Given the description of an element on the screen output the (x, y) to click on. 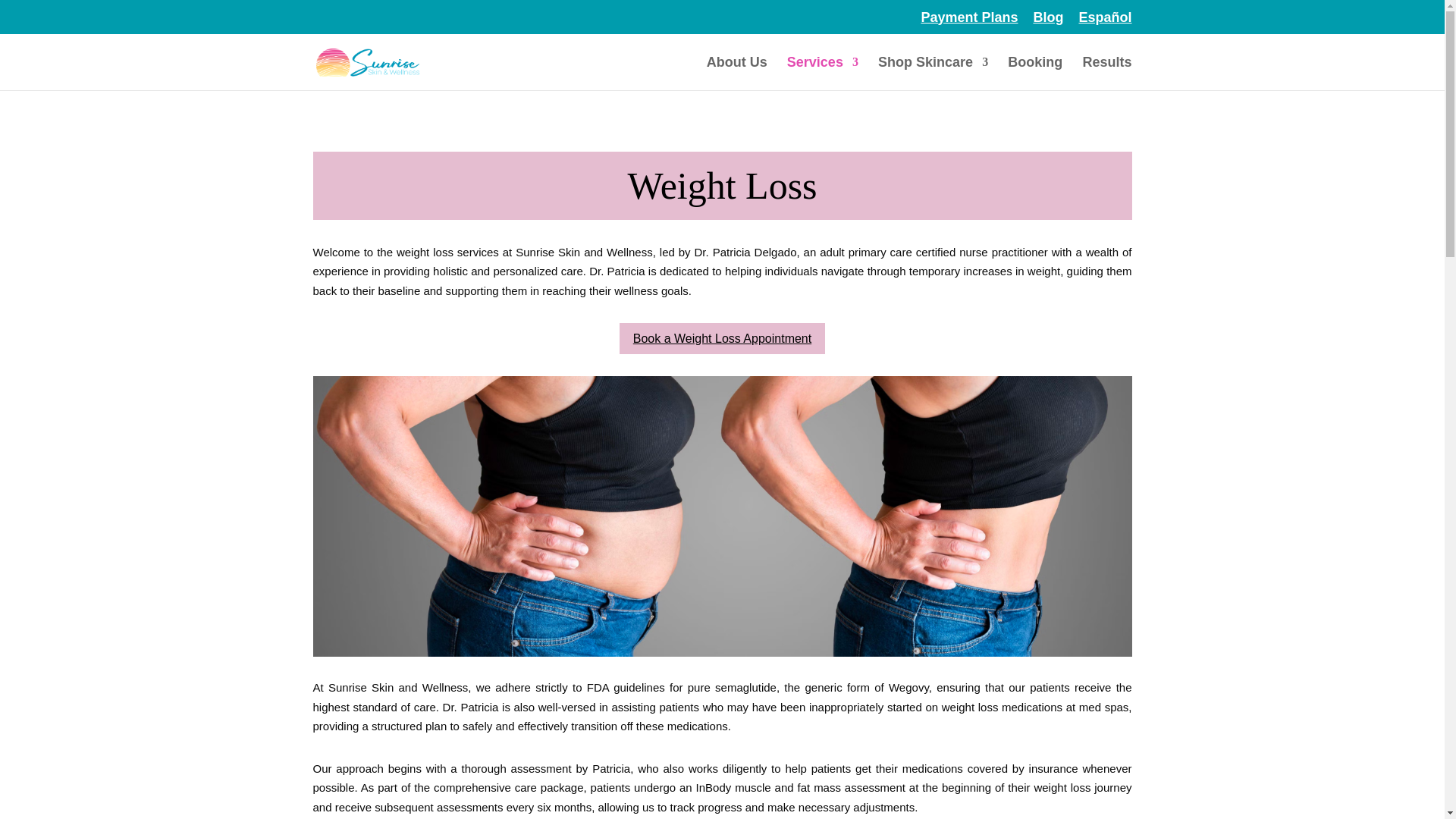
Booking (1034, 73)
About Us (736, 73)
Results (1106, 73)
Book a Weight Loss Appointment (722, 337)
results weight loss (722, 652)
Payment Plans (968, 22)
Blog (1047, 22)
Services (823, 73)
Shop Skincare (932, 73)
